Given the description of an element on the screen output the (x, y) to click on. 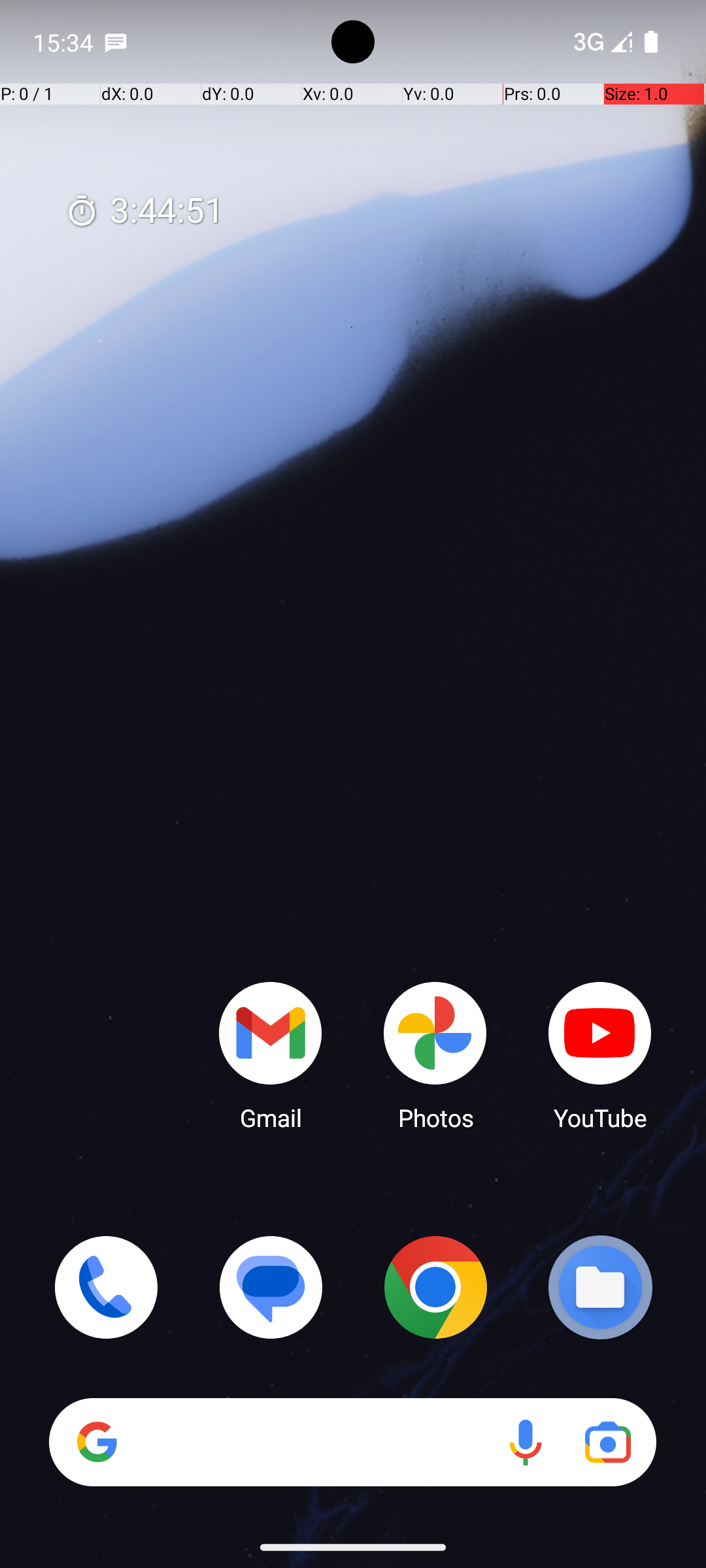
3:44:50 Element type: android.widget.TextView (144, 210)
